Given the description of an element on the screen output the (x, y) to click on. 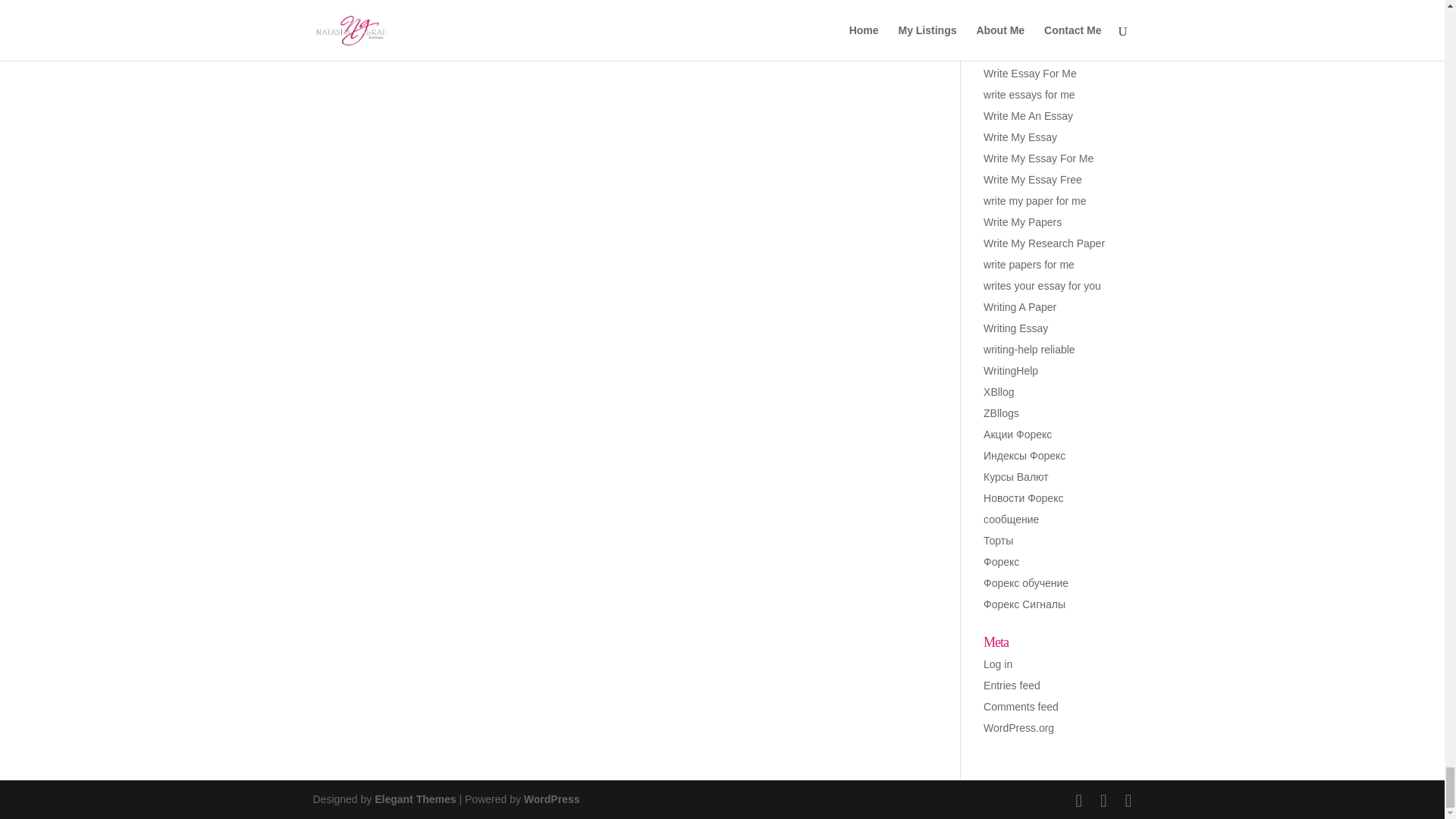
Premium WordPress Themes (414, 799)
